Given the description of an element on the screen output the (x, y) to click on. 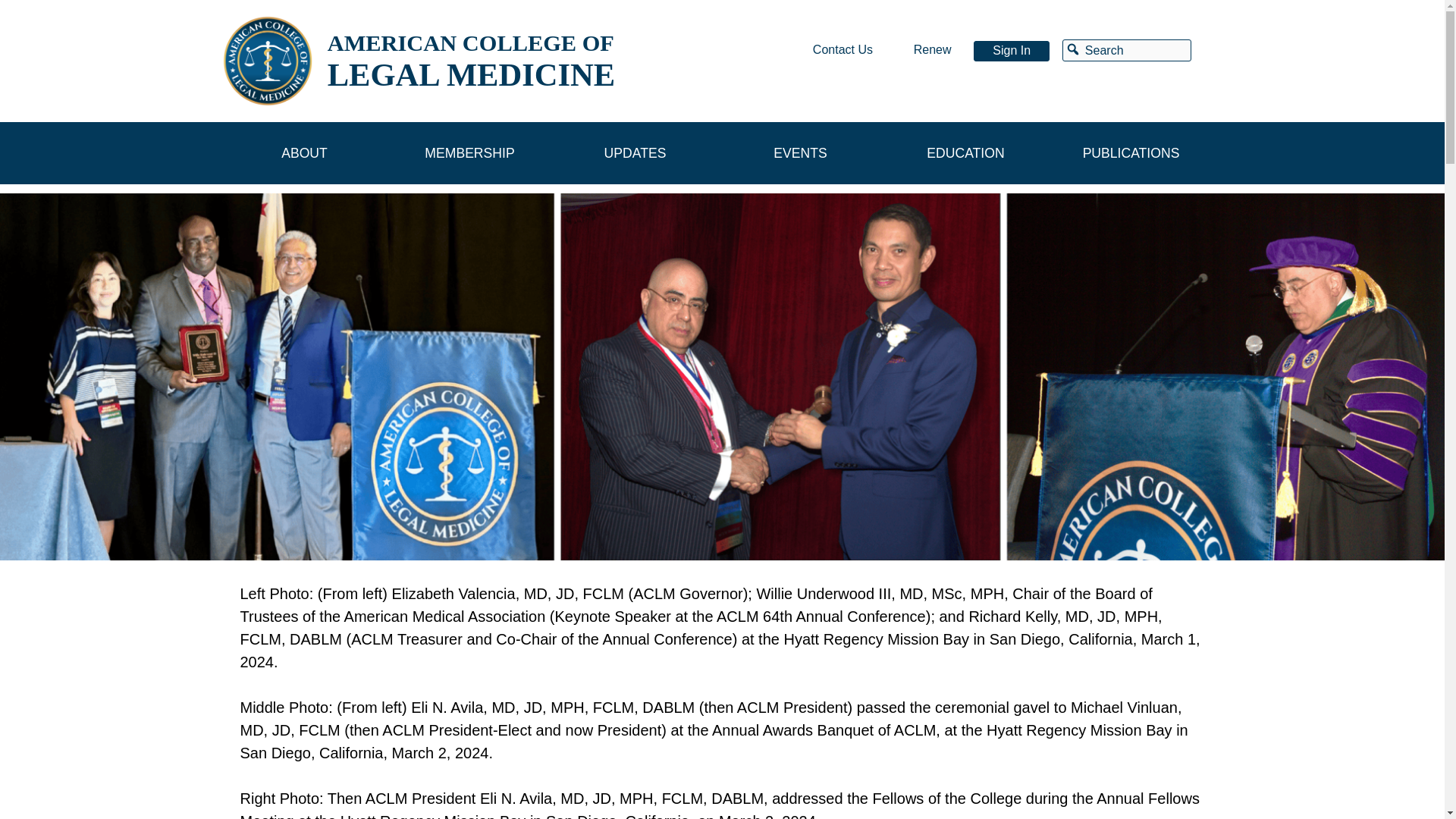
PUBLICATIONS (1130, 153)
EVENTS (800, 153)
Contact Us (842, 49)
Sign In (1011, 50)
UPDATES (634, 153)
EDUCATION (965, 153)
Renew (932, 49)
Sign In (1011, 50)
MEMBERSHIP (469, 153)
Sign In (1011, 50)
